Given the description of an element on the screen output the (x, y) to click on. 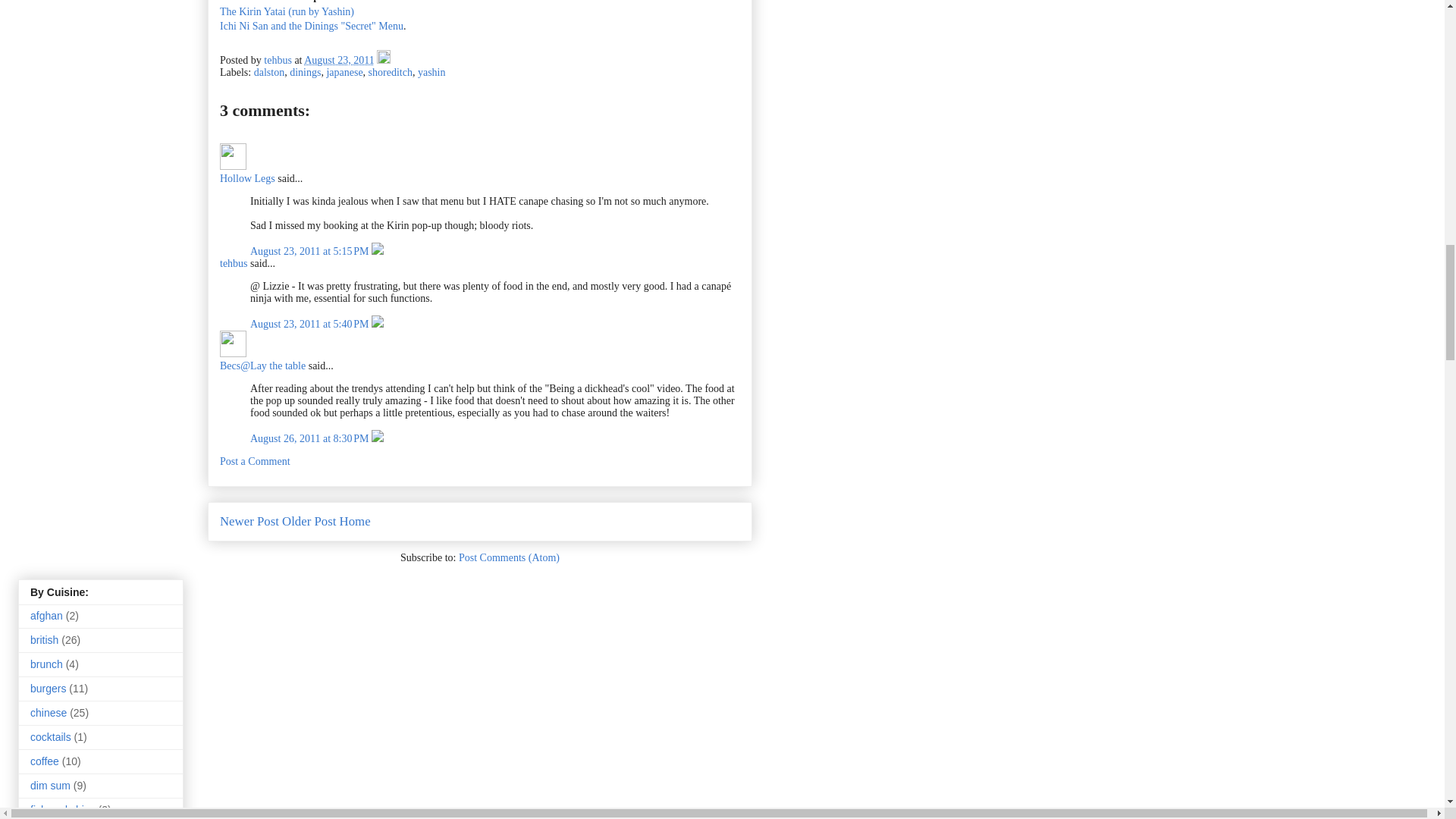
dinings (304, 71)
tehbus (233, 263)
Hollow Legs (232, 156)
permanent link (339, 60)
Hollow Legs (247, 178)
comment permalink (310, 251)
dalston (268, 71)
yashin (431, 71)
